Given the description of an element on the screen output the (x, y) to click on. 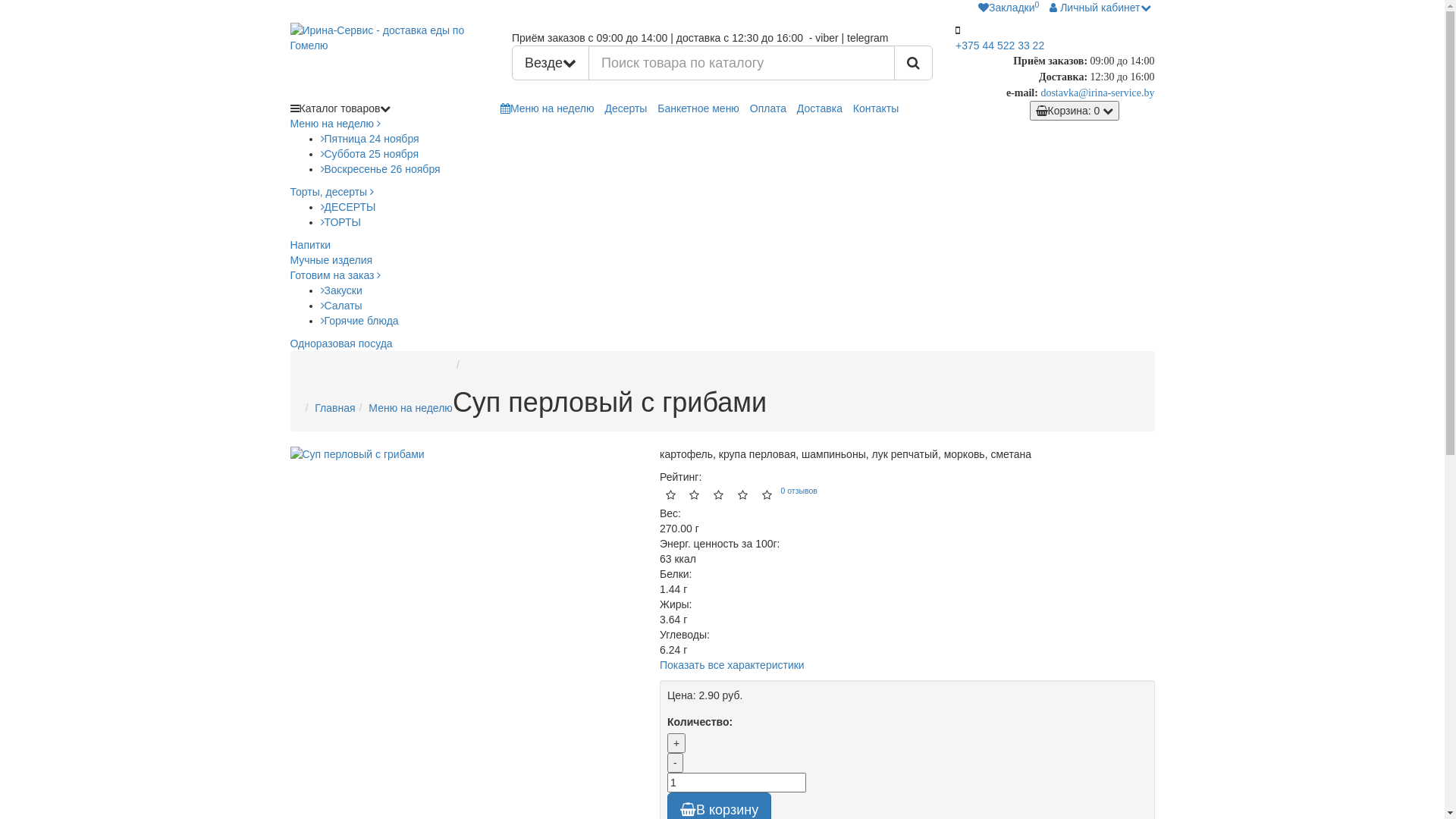
+375 44 522 33 22 Element type: text (999, 45)
+ Element type: text (676, 743)
- Element type: text (675, 762)
dostavka@irina-service.by Element type: text (1097, 92)
